Given the description of an element on the screen output the (x, y) to click on. 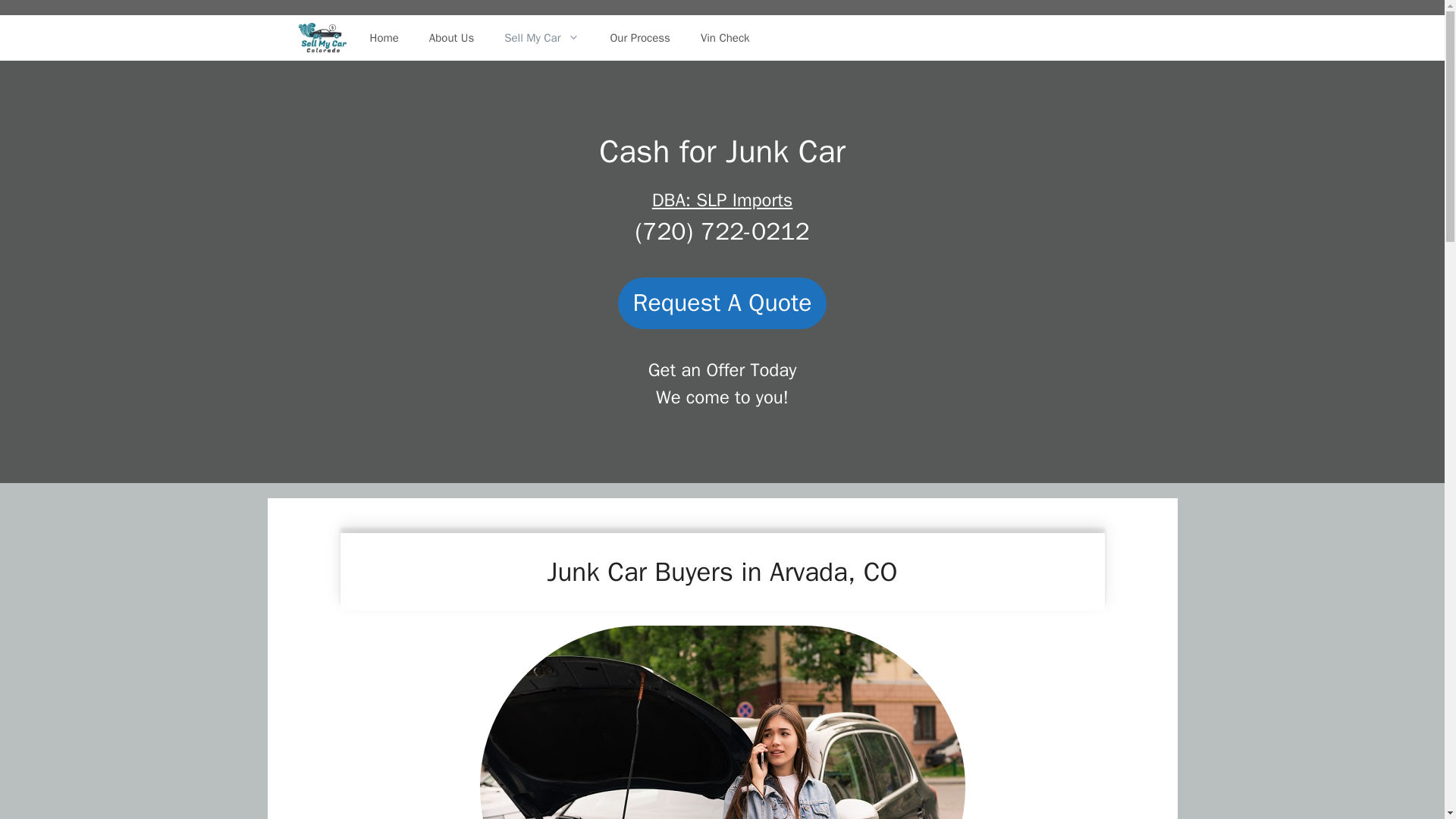
Our Process (639, 37)
Vin Check (725, 37)
We Buy Cars (321, 37)
Sell My Car (541, 37)
Request A Quote (722, 303)
Home (384, 37)
About Us (451, 37)
